Given the description of an element on the screen output the (x, y) to click on. 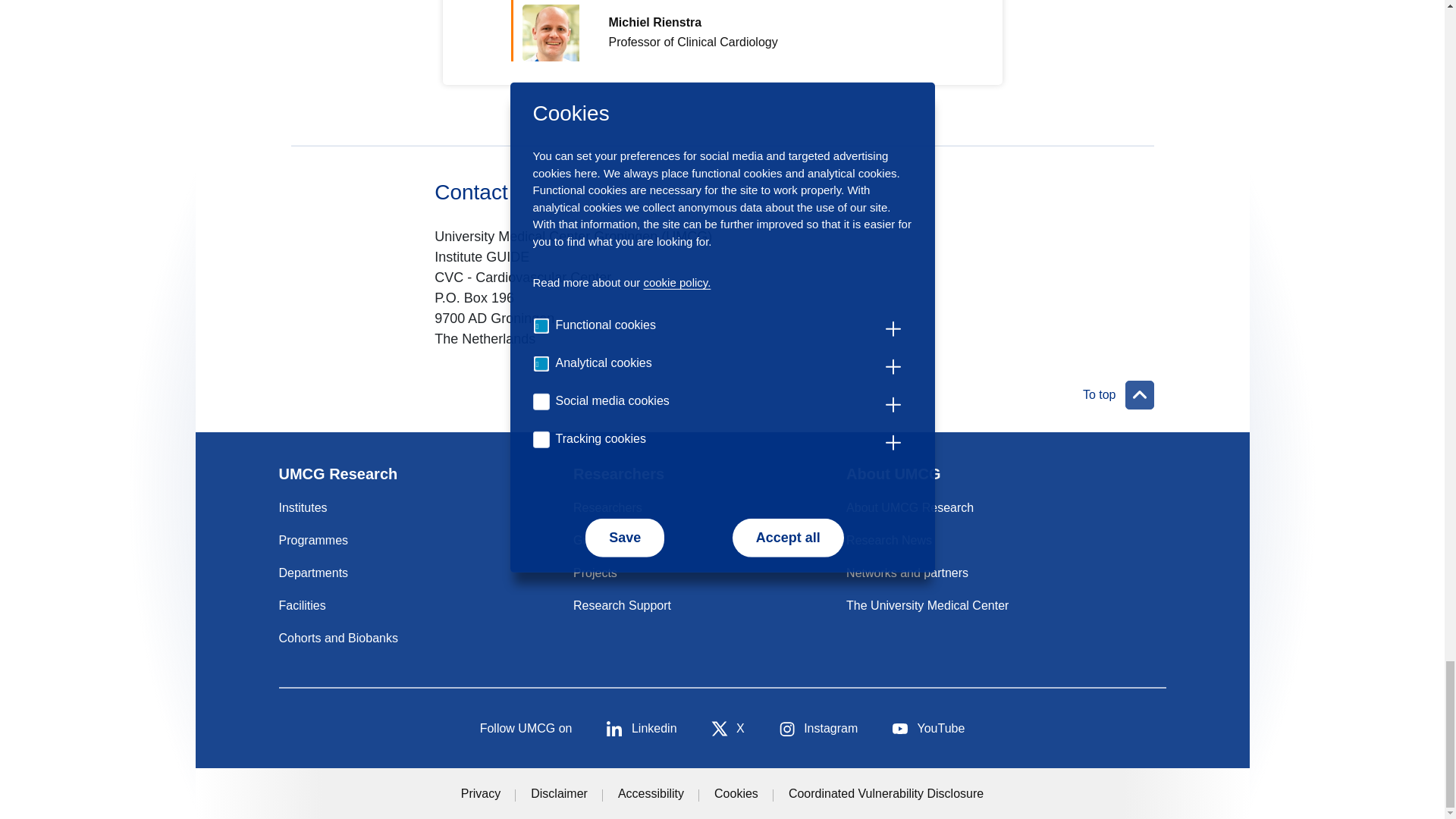
Institutes (303, 507)
